Given the description of an element on the screen output the (x, y) to click on. 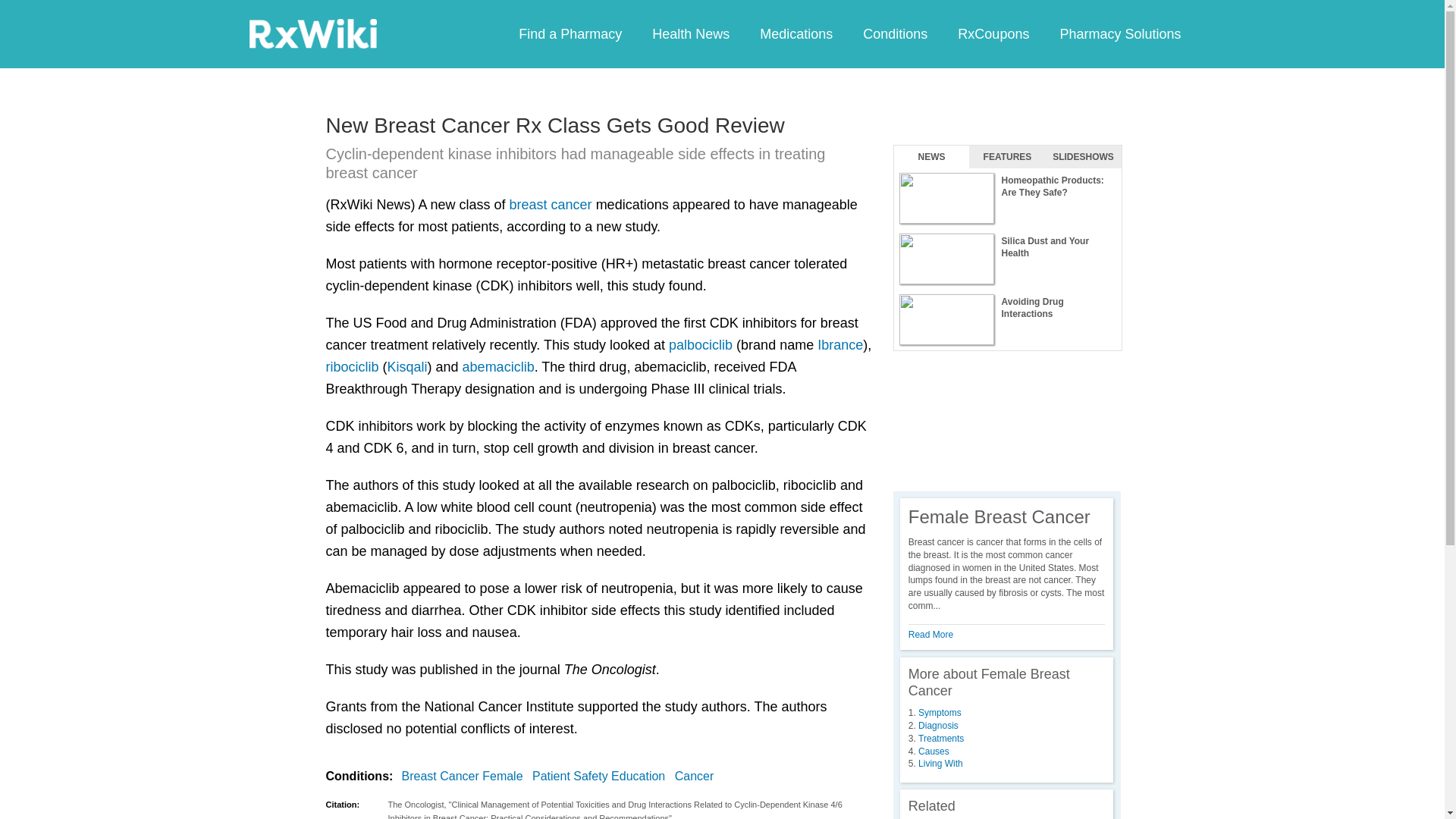
NEWS (931, 156)
Avoiding Drug Interactions (1007, 319)
Health News (690, 33)
Pharmacy Solutions (1119, 33)
abemaciclib (498, 366)
Patient Safety Education (601, 776)
RxCoupons (992, 33)
Breast Cancer Female (465, 776)
RxWiki (312, 32)
Silica Dust and Your Health (1007, 259)
palbociclib (700, 344)
Ibrance (839, 344)
Cancer (697, 776)
Medications (795, 33)
Kisqali (407, 366)
